Given the description of an element on the screen output the (x, y) to click on. 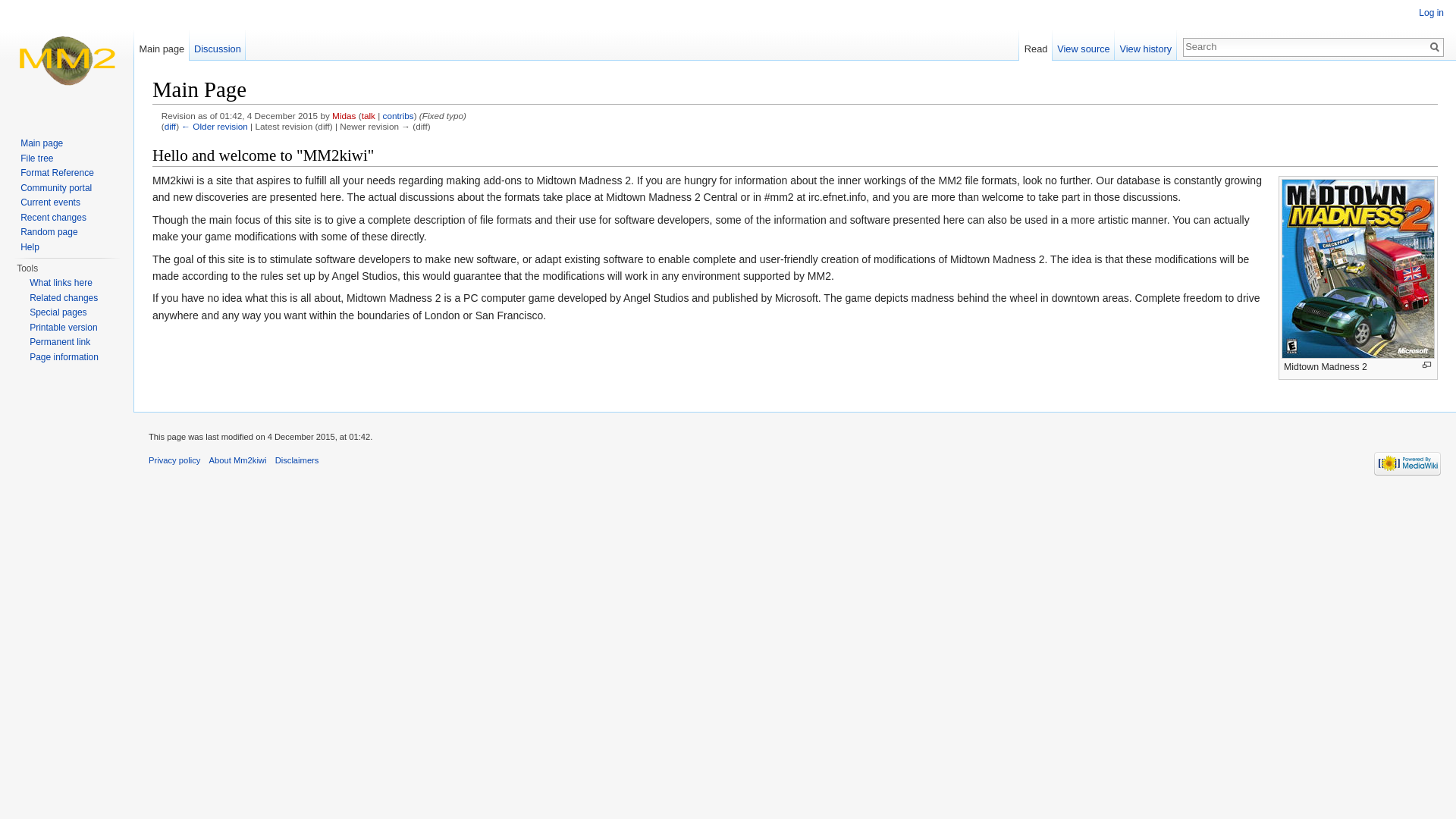
Midas (343, 115)
Format Reference (57, 172)
Related changes (63, 297)
Special pages (57, 312)
Main Page (170, 126)
View source (1083, 45)
About Mm2kiwi (237, 460)
Random page (48, 231)
Main page (161, 45)
Main Page (213, 126)
